Given the description of an element on the screen output the (x, y) to click on. 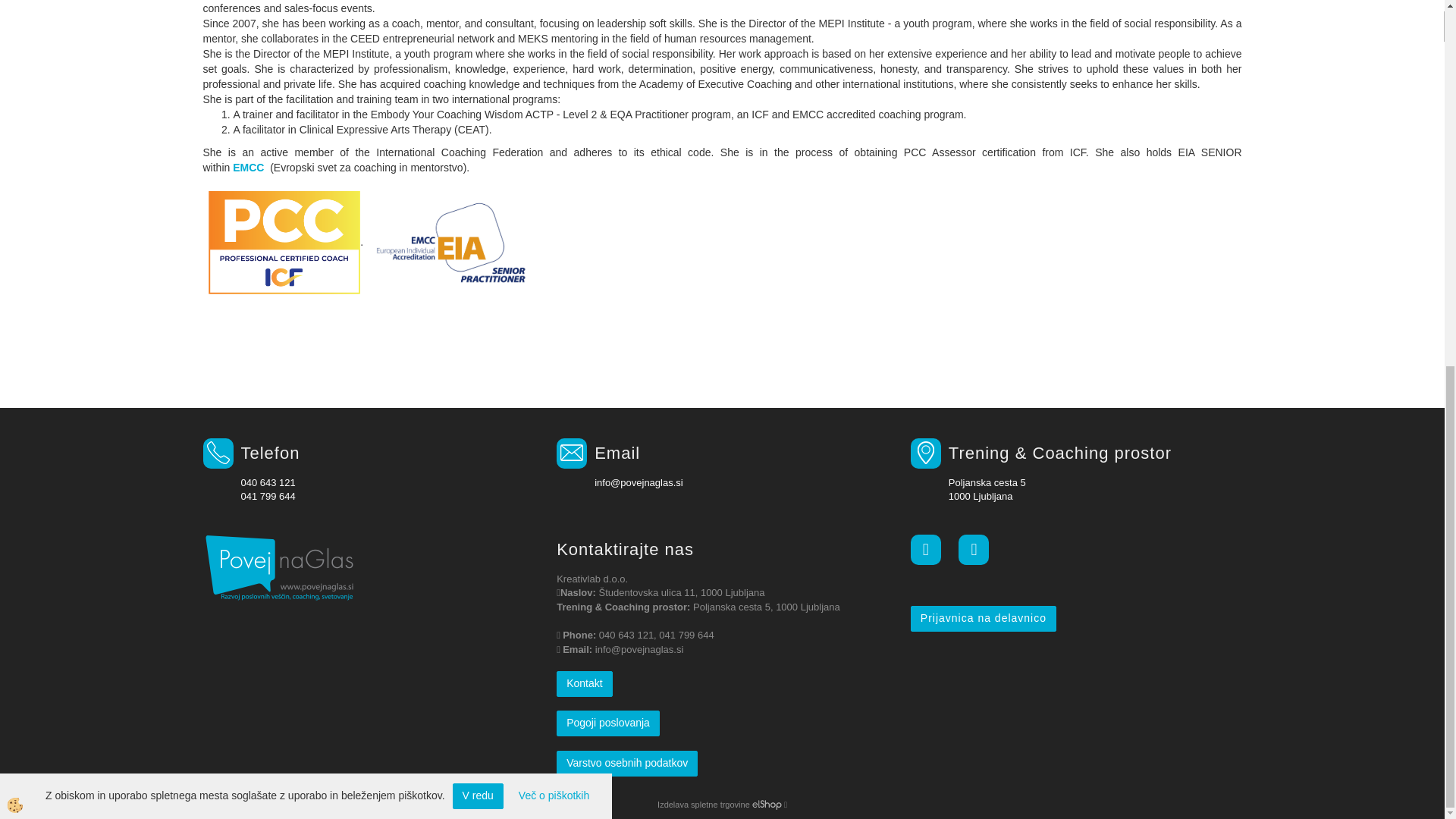
Izdelava spletne trgovine (703, 804)
Izdelava spletne trgovine (766, 804)
Izdelava spletne trgovine (766, 804)
